Given the description of an element on the screen output the (x, y) to click on. 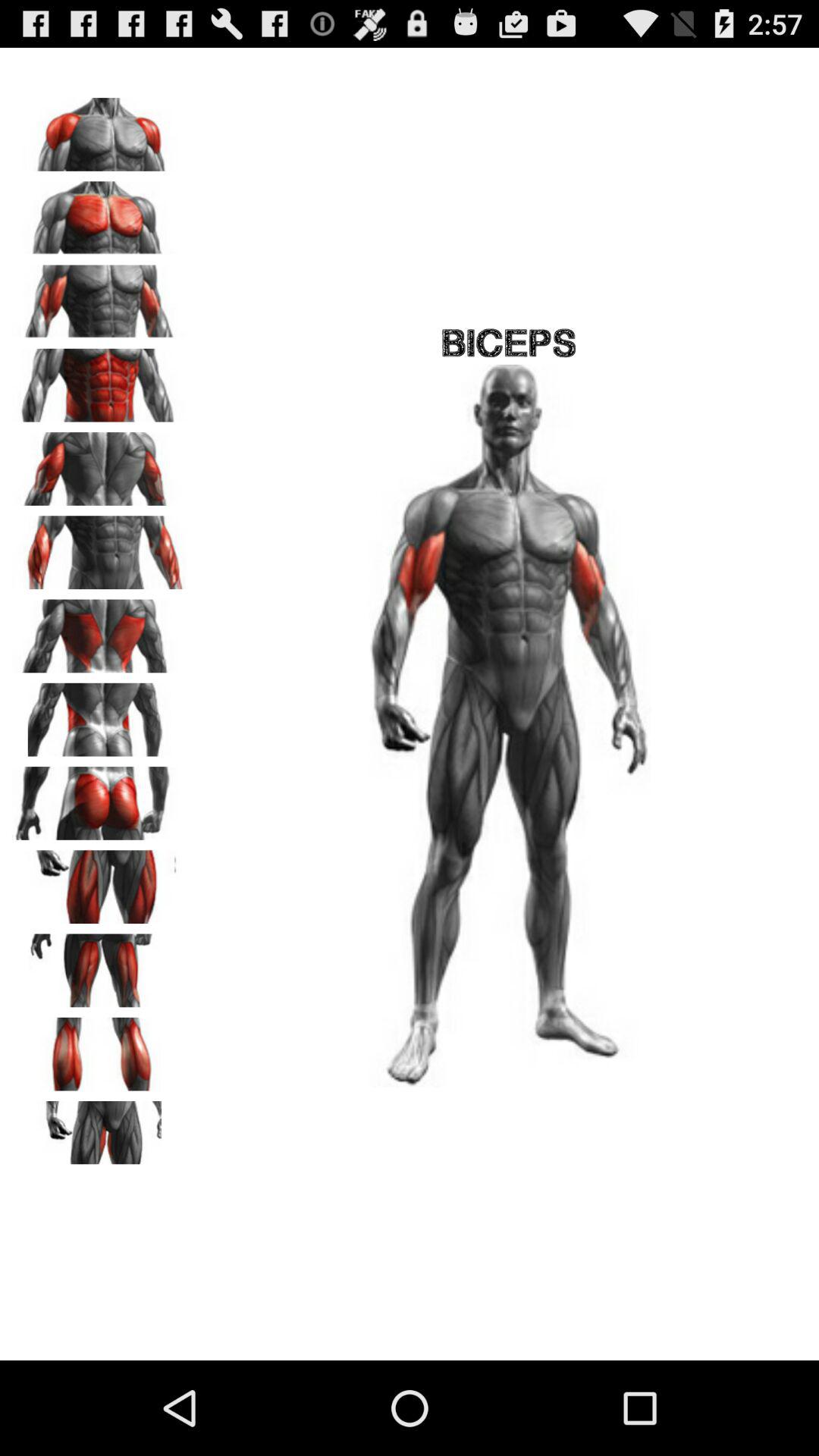
select picture (99, 463)
